Given the description of an element on the screen output the (x, y) to click on. 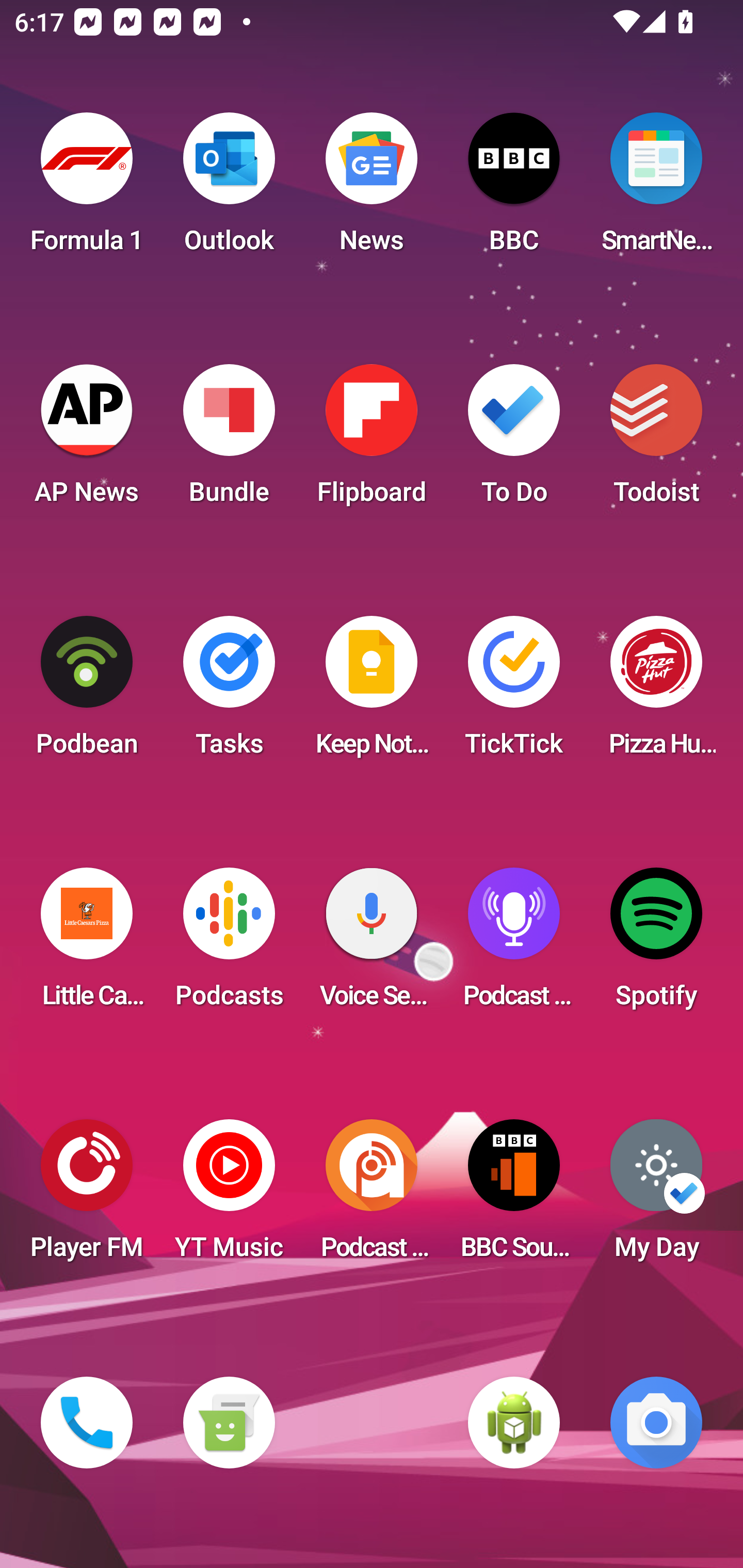
Formula 1 (86, 188)
Outlook (228, 188)
News (371, 188)
BBC (513, 188)
SmartNews (656, 188)
AP News (86, 440)
Bundle (228, 440)
Flipboard (371, 440)
To Do (513, 440)
Todoist (656, 440)
Podbean (86, 692)
Tasks (228, 692)
Keep Notes (371, 692)
TickTick (513, 692)
Pizza Hut HK & Macau (656, 692)
Little Caesars Pizza (86, 943)
Podcasts (228, 943)
Voice Search (371, 943)
Podcast Player (513, 943)
Spotify (656, 943)
Player FM (86, 1195)
YT Music (228, 1195)
Podcast Addict (371, 1195)
BBC Sounds (513, 1195)
My Day (656, 1195)
Phone (86, 1422)
Messaging (228, 1422)
WebView Browser Tester (513, 1422)
Camera (656, 1422)
